Given the description of an element on the screen output the (x, y) to click on. 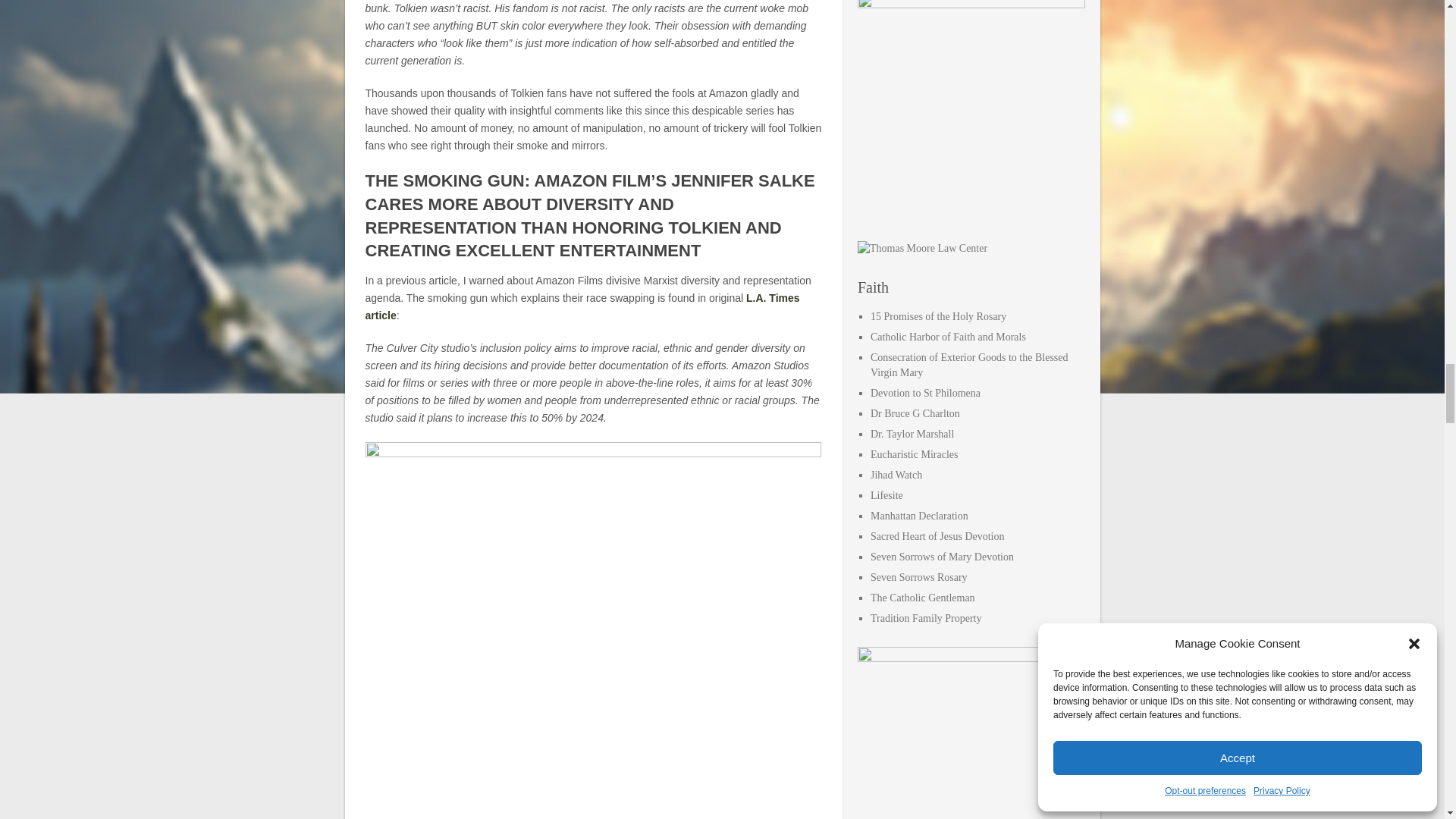
L.A. Times article (582, 306)
